Given the description of an element on the screen output the (x, y) to click on. 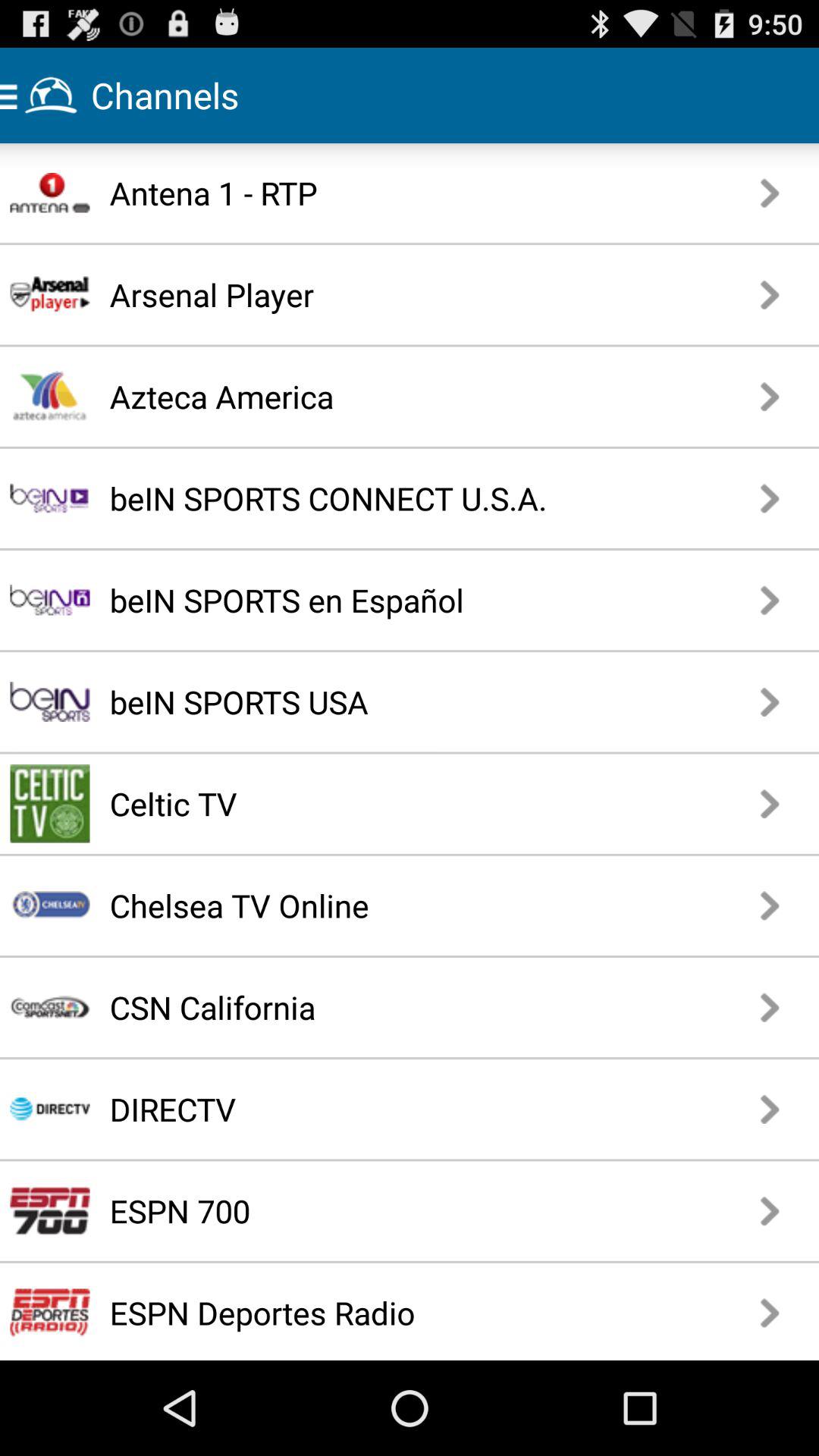
jump to the espn deportes radio item (382, 1312)
